Given the description of an element on the screen output the (x, y) to click on. 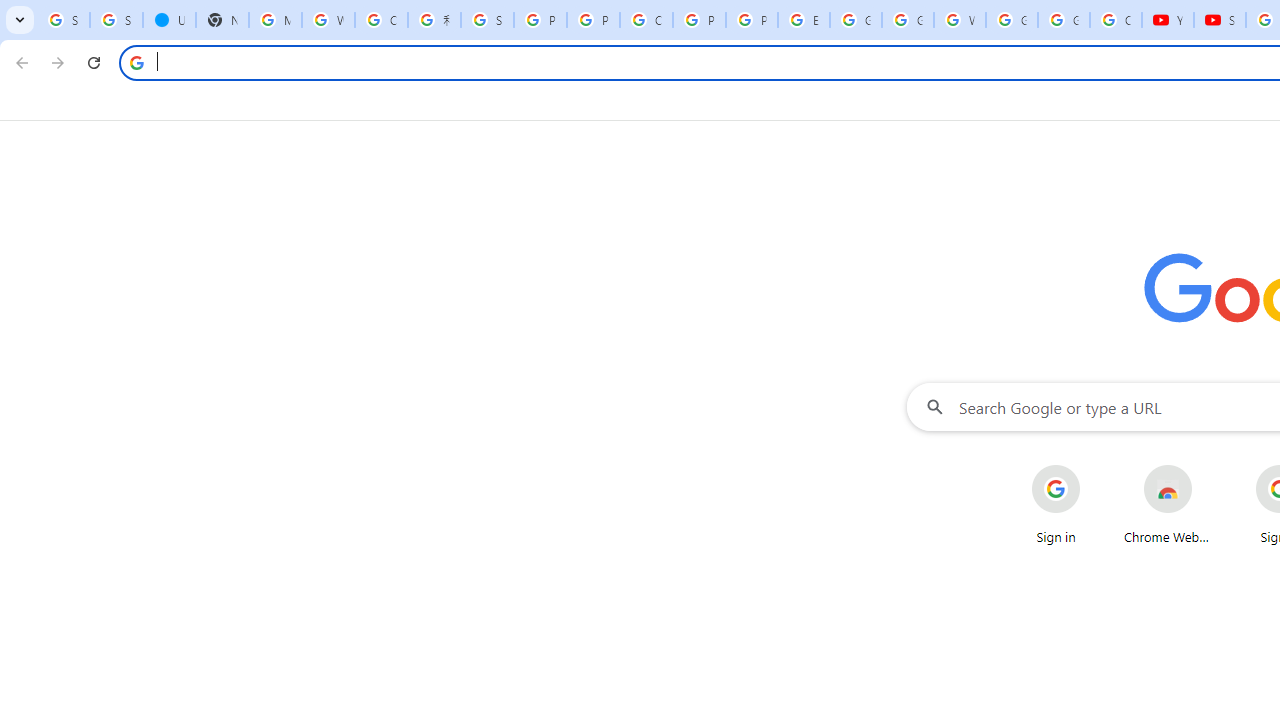
YouTube (1167, 20)
Who is my administrator? - Google Account Help (328, 20)
Subscriptions - YouTube (1219, 20)
Google Slides: Sign-in (855, 20)
Create your Google Account (646, 20)
Edit and view right-to-left text - Google Docs Editors Help (803, 20)
USA TODAY (169, 20)
